Given the description of an element on the screen output the (x, y) to click on. 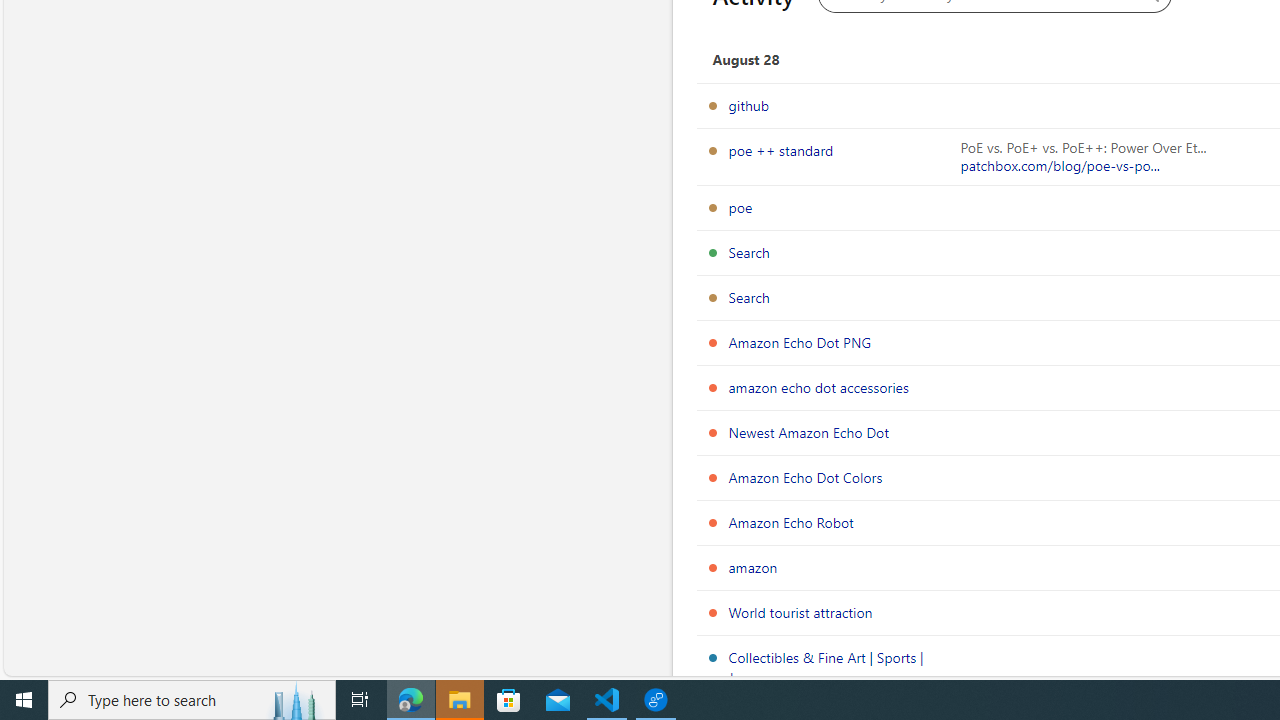
amazon echo dot accessories (818, 387)
Amazon Echo Robot (790, 522)
Collectibles & Fine Art | Sports | Jerseys (826, 667)
Amazon Echo Dot Colors (805, 477)
Amazon Echo Dot PNG (799, 342)
World tourist attraction (800, 612)
poe ++ standard (781, 150)
poe (740, 207)
amazon (753, 567)
patchbox.com/blog/poe-vs-po... (1059, 165)
github (748, 105)
Newest Amazon Echo Dot (808, 432)
